Given the description of an element on the screen output the (x, y) to click on. 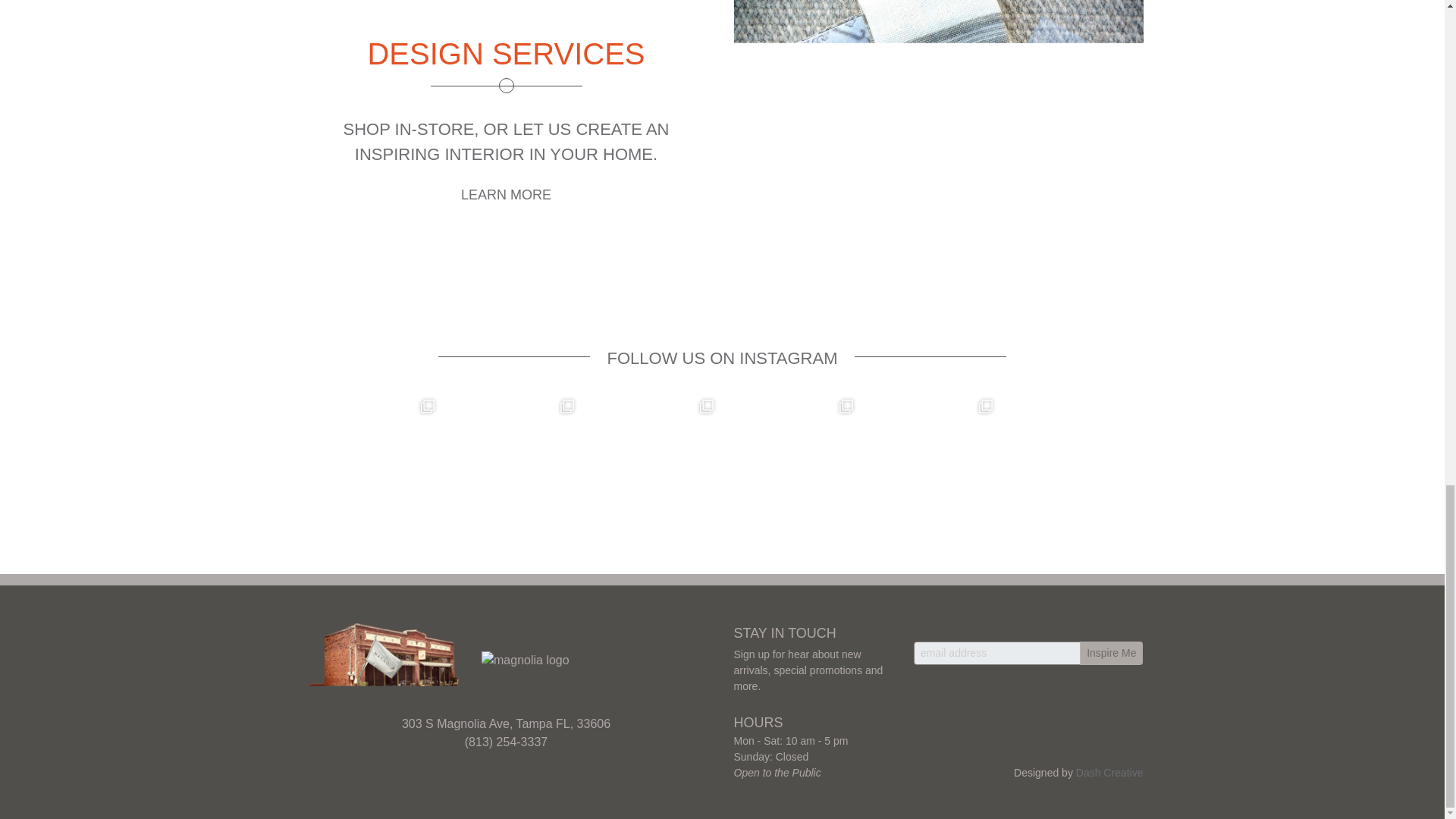
LEARN MORE (506, 194)
Dash Creative (1108, 772)
INCOMING!!!! CHECK OUT THESE BEAUTIFUL NEW ADDITIO (512, 460)
Inspire Me (1111, 653)
SNEAK PEEK AT OUR BOSTON, MA INSTALL! A YEAR LONG (791, 460)
COME IN AND SHOP FOR SOMETHING SPECIAL FOR MOTHER' (373, 460)
TIME TO TALK PILLOWS AND TEXTILES!!! ONE OF THE EA (652, 460)
WE SHOULD ALL SUPPORT PEACE! SHOW YOUR LOVE AND SU (1070, 460)
WE HAD TO SAY GOODBYE TO ONE OF OUR BEST FRIENDS A (930, 460)
